Given the description of an element on the screen output the (x, y) to click on. 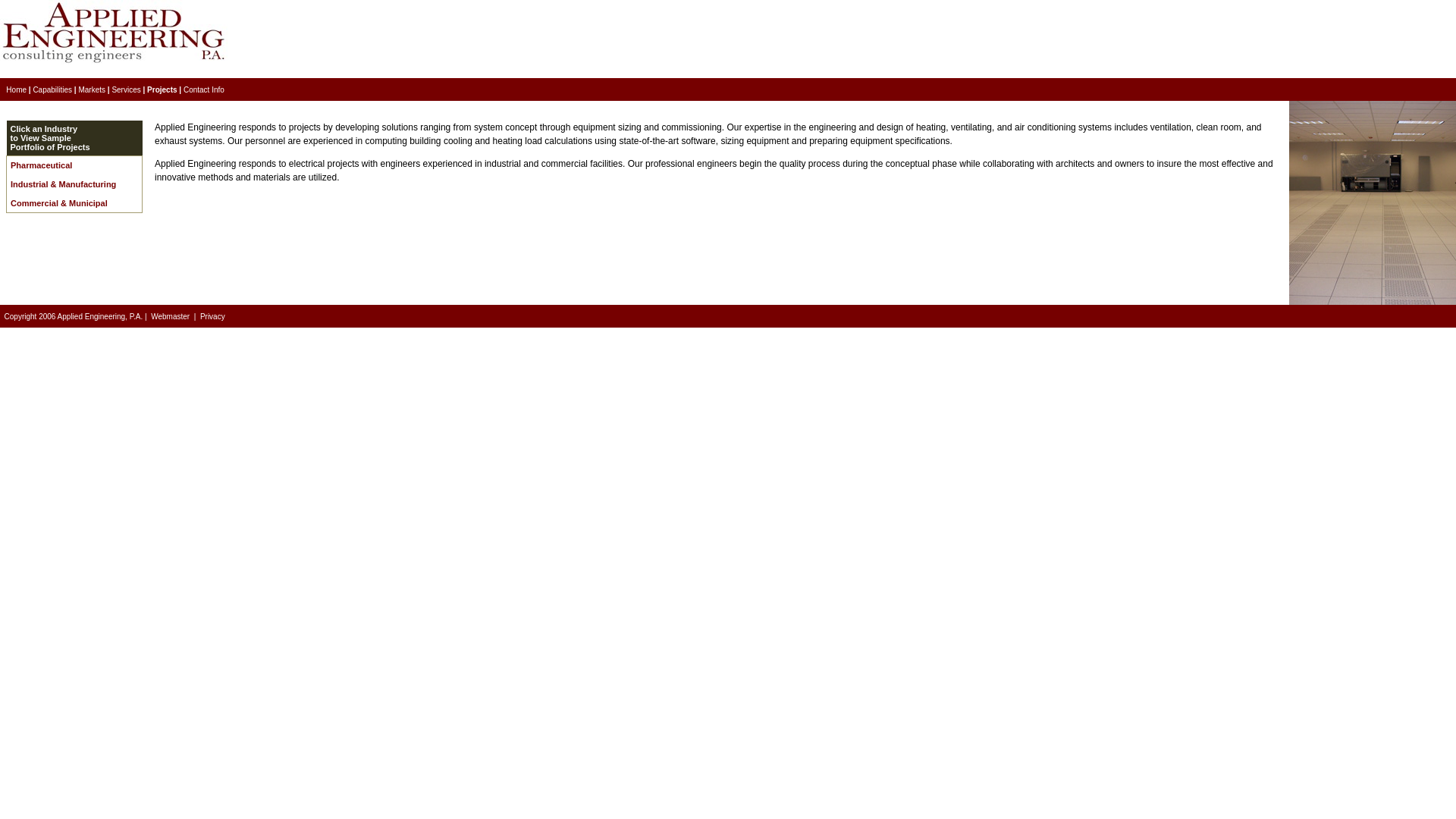
Privacy (212, 316)
Home (15, 89)
Webmaster (170, 316)
Pharmaceutical (40, 164)
Capabilities (51, 89)
Services (125, 89)
Markets (91, 89)
Contact Info (203, 89)
